Given the description of an element on the screen output the (x, y) to click on. 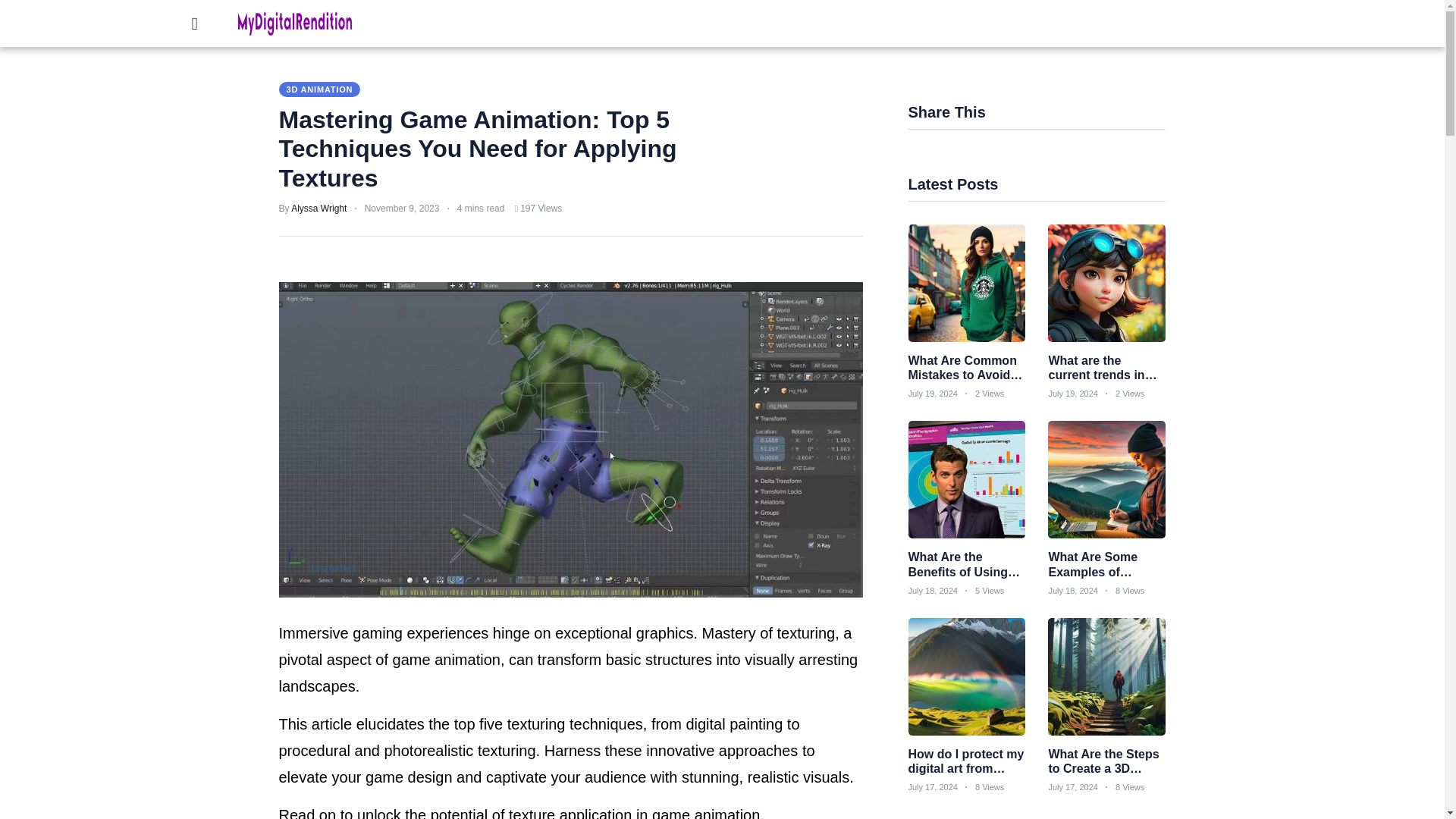
Alyssa Wright (318, 208)
3D ANIMATION (320, 89)
PERSONALIZED LOGO DESIGN (842, 25)
DIGITAL ART INSTRUCTION (480, 25)
EBOOK COVERS DESIGN (1028, 25)
MOBILE GAME ARTWORK (654, 25)
